Given the description of an element on the screen output the (x, y) to click on. 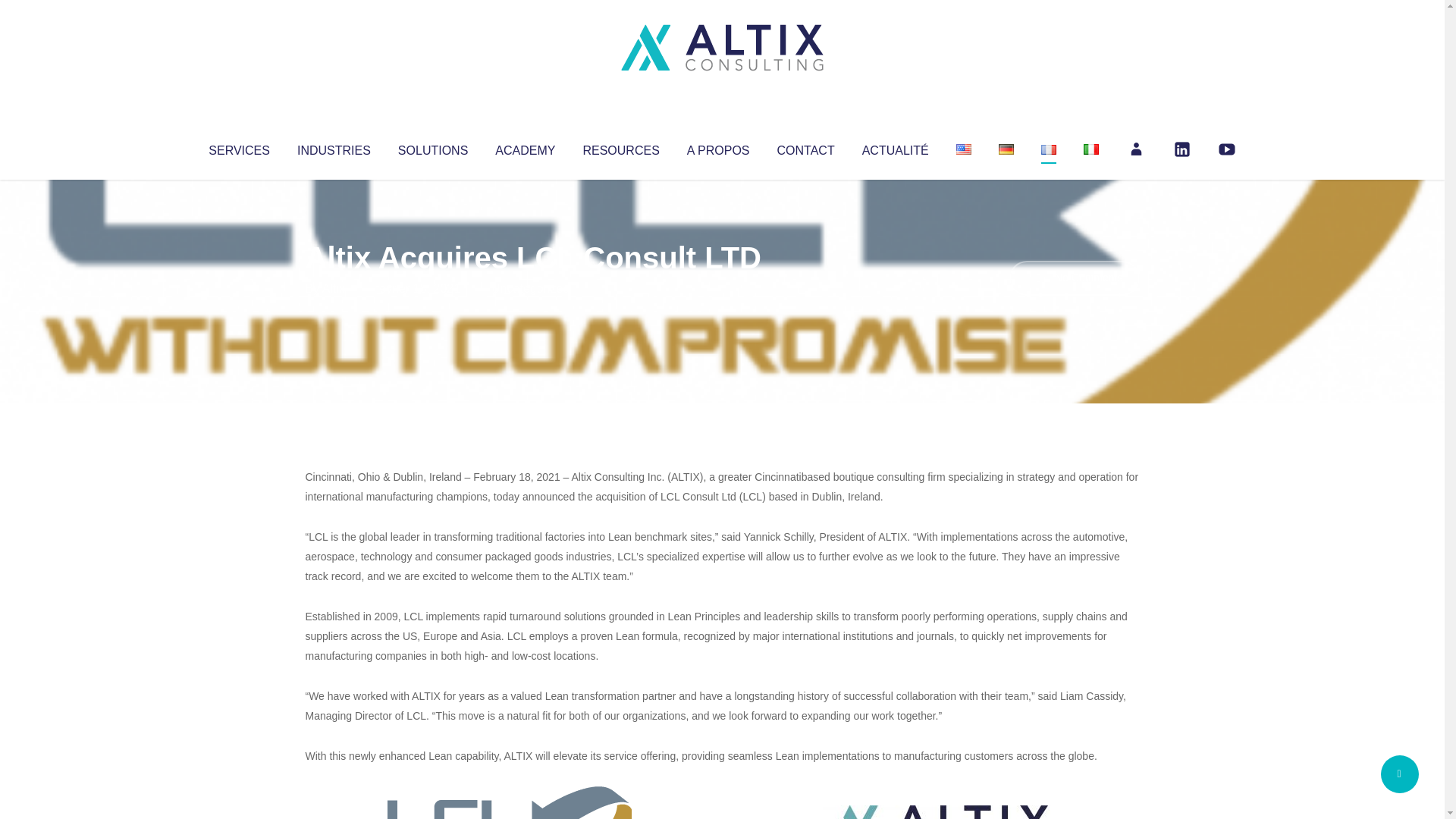
ACADEMY (524, 146)
Articles par Altix (333, 287)
RESOURCES (620, 146)
Altix (333, 287)
SOLUTIONS (432, 146)
No Comments (1073, 278)
Uncategorized (530, 287)
INDUSTRIES (334, 146)
A PROPOS (718, 146)
SERVICES (238, 146)
